Given the description of an element on the screen output the (x, y) to click on. 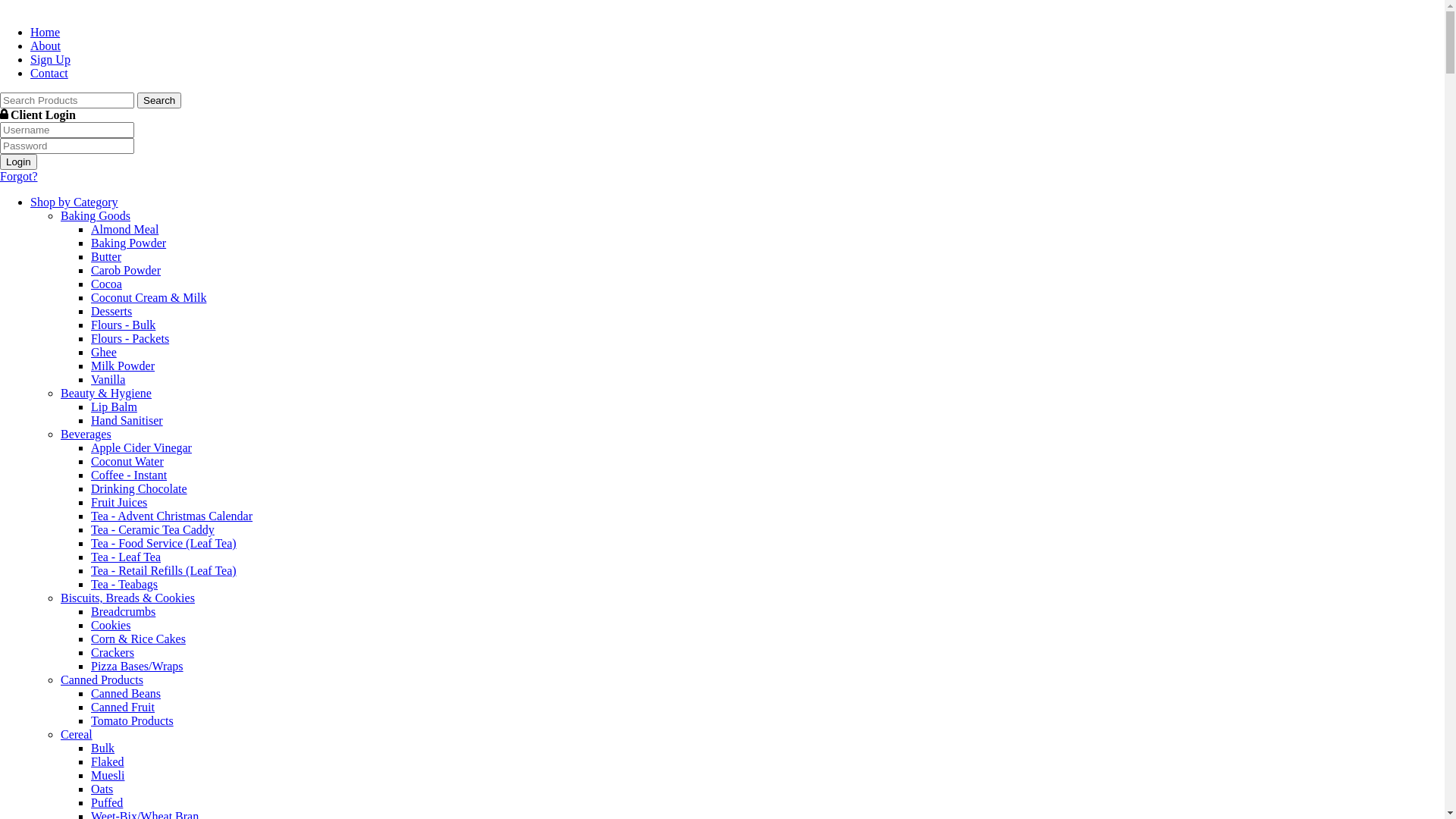
Cocoa Element type: text (106, 283)
Contact Element type: text (49, 72)
Flours - Bulk Element type: text (123, 324)
Forgot? Element type: text (18, 175)
Beauty & Hygiene Element type: text (105, 392)
Crackers Element type: text (112, 652)
Fruit Juices Element type: text (119, 501)
Flours - Packets Element type: text (130, 338)
Coconut Cream & Milk Element type: text (148, 297)
Milk Powder Element type: text (122, 365)
Carob Powder Element type: text (125, 269)
Tomato Products Element type: text (132, 720)
Home Element type: text (44, 31)
Biscuits, Breads & Cookies Element type: text (127, 597)
Tea - Ceramic Tea Caddy Element type: text (152, 529)
Baking Goods Element type: text (95, 215)
Muesli Element type: text (107, 774)
Breadcrumbs Element type: text (123, 611)
Beverages Element type: text (85, 433)
Tea - Retail Refills (Leaf Tea) Element type: text (163, 570)
Coconut Water Element type: text (127, 461)
Canned Fruit Element type: text (122, 706)
Coffee - Instant Element type: text (128, 474)
Ghee Element type: text (103, 351)
Oats Element type: text (101, 788)
Hand Sanitiser Element type: text (127, 420)
Puffed Element type: text (106, 802)
Almond Meal Element type: text (124, 228)
Sign Up Element type: text (50, 59)
Bulk Element type: text (102, 747)
Search Element type: text (159, 100)
Canned Products Element type: text (101, 679)
Drinking Chocolate Element type: text (139, 488)
Apple Cider Vinegar Element type: text (141, 447)
Corn & Rice Cakes Element type: text (138, 638)
Login Element type: text (18, 161)
Cereal Element type: text (76, 734)
Tea - Food Service (Leaf Tea) Element type: text (163, 542)
Tea - Teabags Element type: text (124, 583)
Canned Beans Element type: text (125, 693)
Vanilla Element type: text (108, 379)
Butter Element type: text (106, 256)
Desserts Element type: text (111, 310)
Cookies Element type: text (110, 624)
Baking Powder Element type: text (128, 242)
Lip Balm Element type: text (114, 406)
Flaked Element type: text (107, 761)
Shop by Category Element type: text (74, 201)
About Element type: text (45, 45)
Tea - Advent Christmas Calendar Element type: text (171, 515)
Pizza Bases/Wraps Element type: text (137, 665)
Tea - Leaf Tea Element type: text (125, 556)
